Given the description of an element on the screen output the (x, y) to click on. 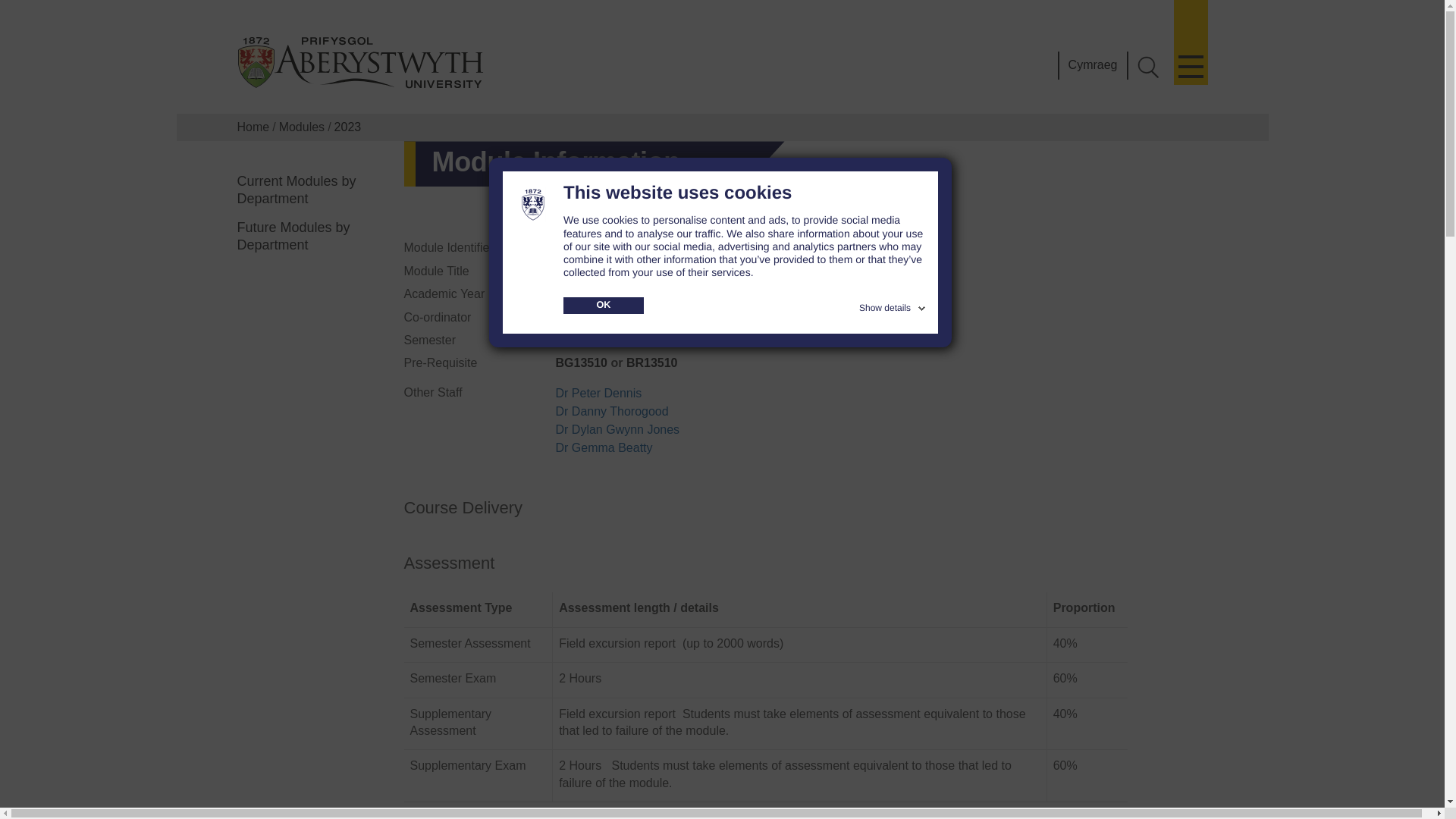
Show details (893, 305)
OK (603, 305)
